Given the description of an element on the screen output the (x, y) to click on. 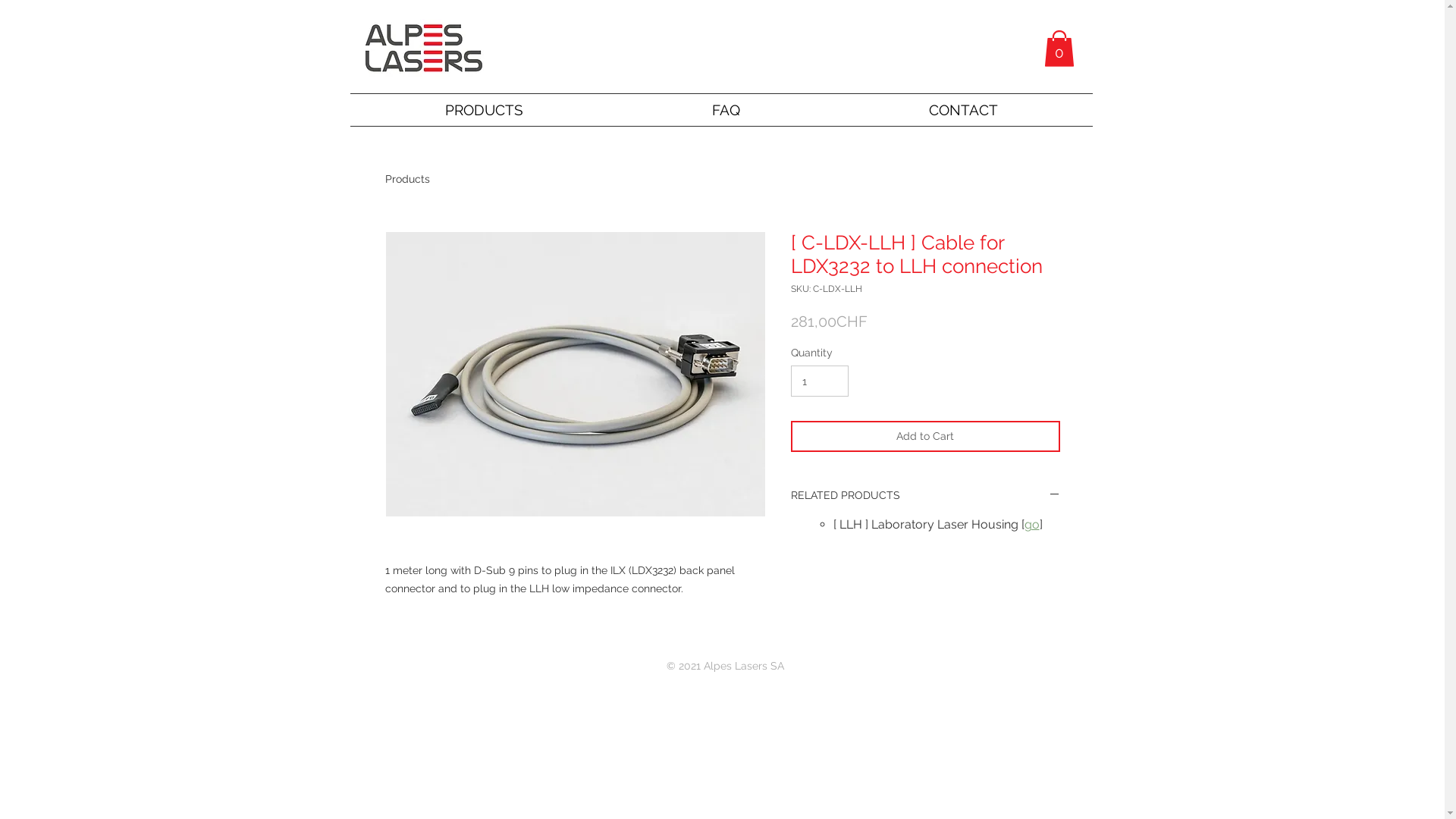
go Element type: text (1030, 524)
PRODUCTS Element type: text (484, 109)
Products Element type: text (407, 178)
Add to Cart Element type: text (924, 435)
0 Element type: text (1058, 48)
CONTACT Element type: text (963, 109)
FAQ Element type: text (725, 109)
RELATED PRODUCTS Element type: text (924, 495)
